Given the description of an element on the screen output the (x, y) to click on. 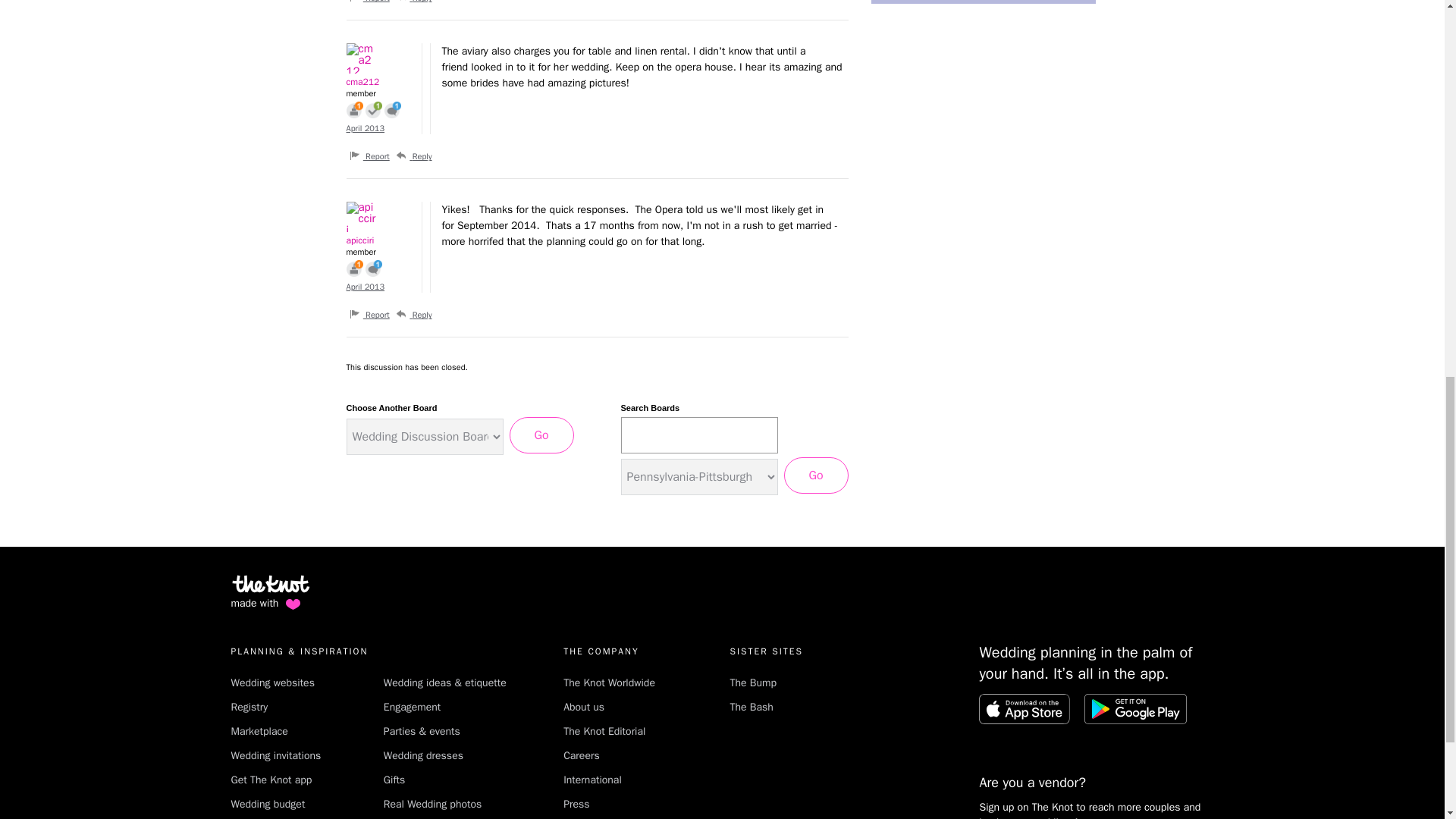
love (292, 604)
Go (816, 475)
Go (541, 434)
member (379, 92)
cma212 (376, 58)
Report (369, 2)
First Anniversary (354, 109)
